Given the description of an element on the screen output the (x, y) to click on. 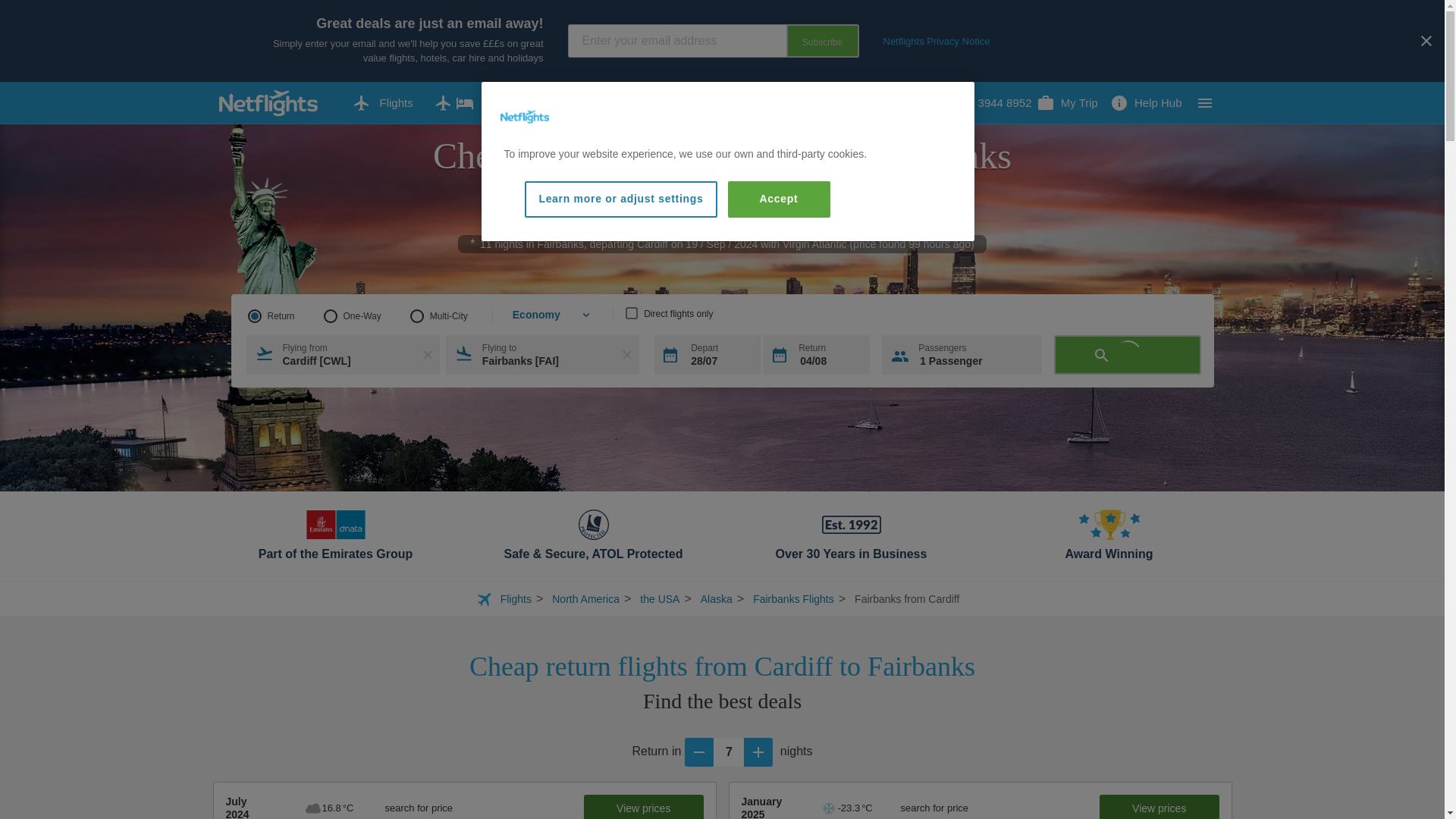
Hotels (600, 102)
My Trip (1066, 102)
Flights (382, 102)
Flights (382, 102)
1 Passenger (962, 354)
Flights (515, 598)
Help Hub (1145, 102)
Alaska (716, 598)
Netflights Privacy Notice (936, 41)
1 Passenger (962, 354)
Subscribe (822, 40)
Search (1128, 354)
Car hire (685, 102)
Hotels (600, 102)
Netflights (524, 116)
